Given the description of an element on the screen output the (x, y) to click on. 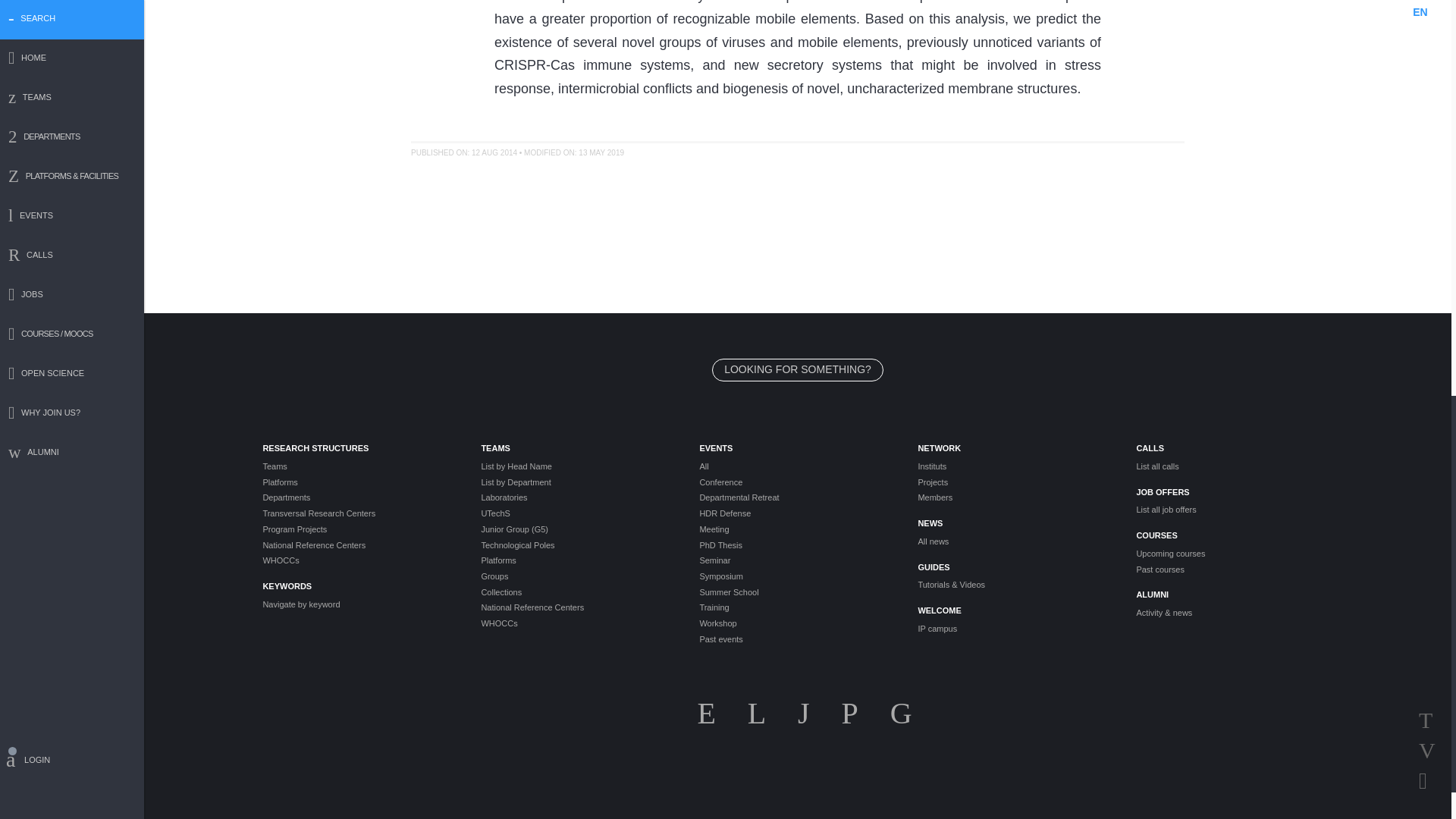
Platforms (360, 482)
Teams (360, 466)
